Given the description of an element on the screen output the (x, y) to click on. 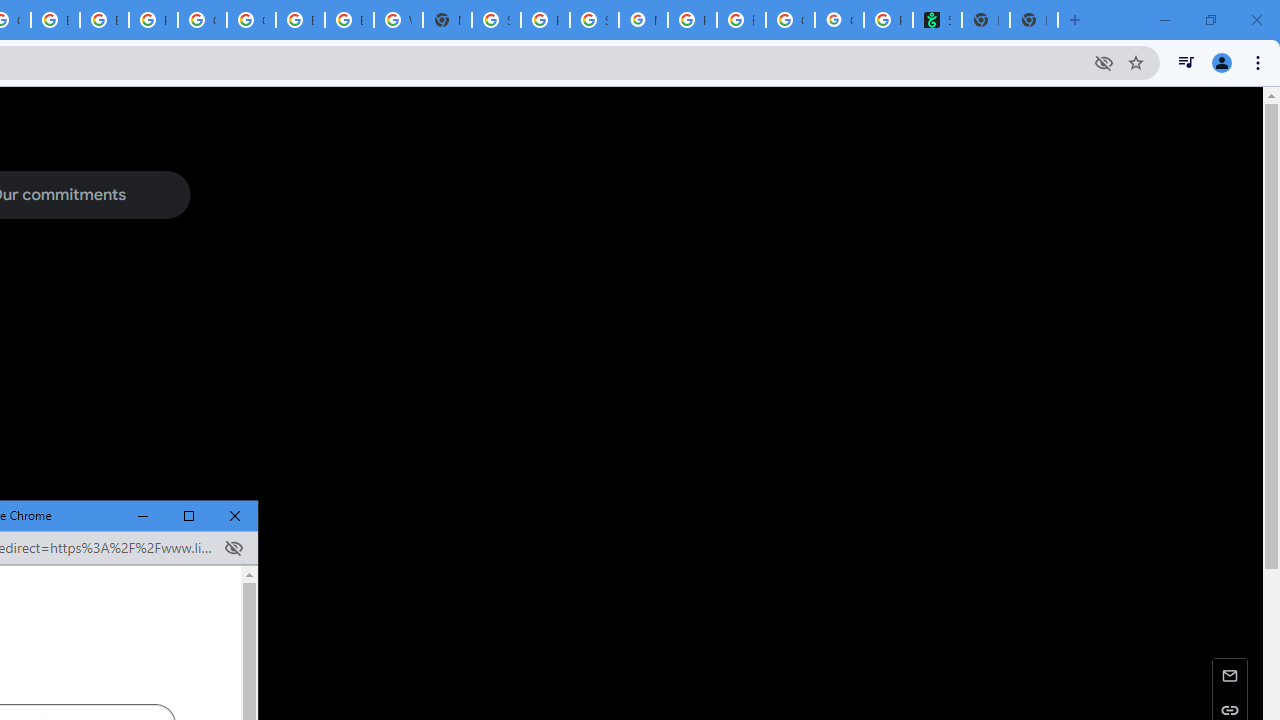
Maximize (189, 516)
